Given the description of an element on the screen output the (x, y) to click on. 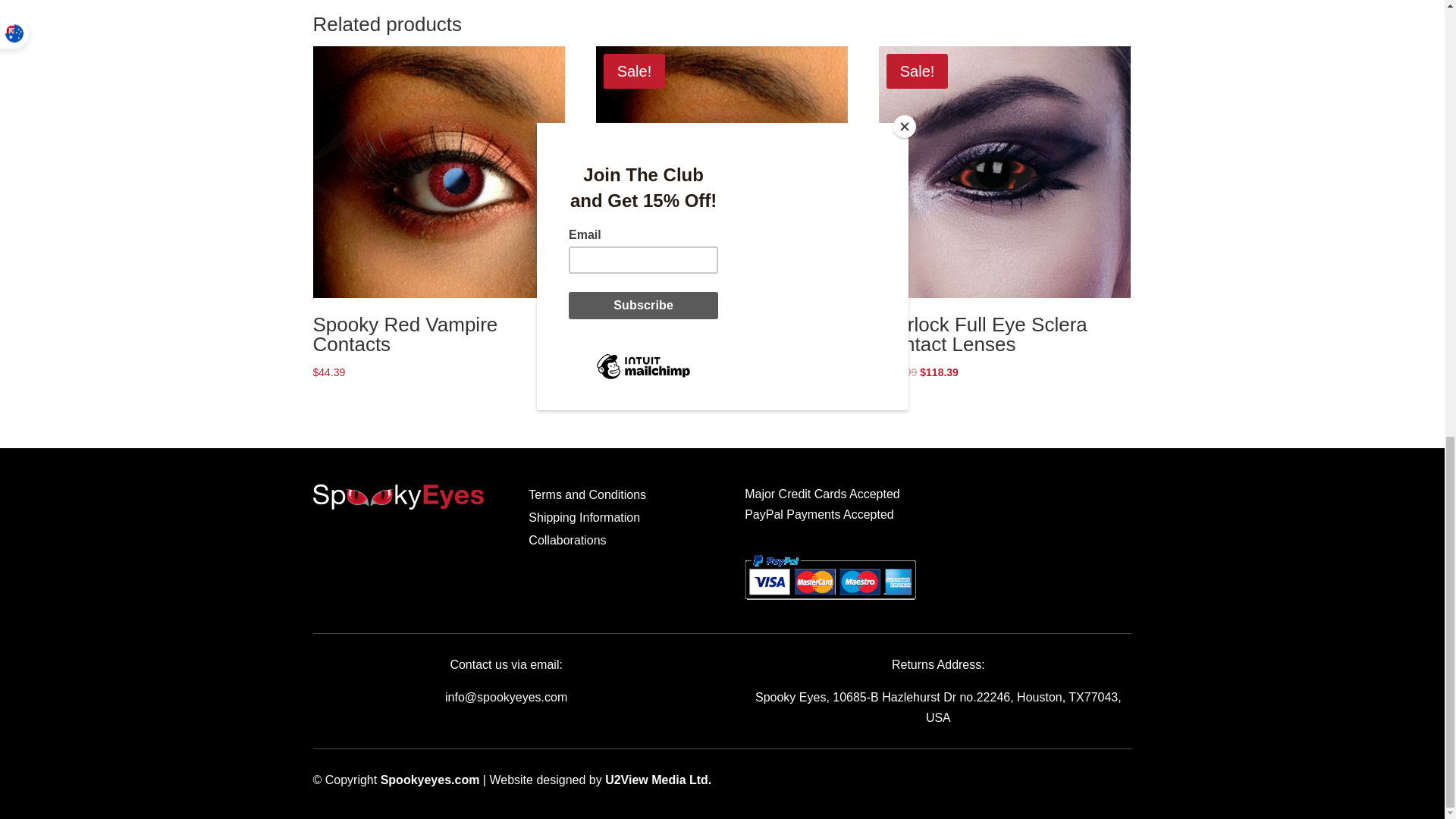
header-logo (398, 497)
How PayPal Works (829, 602)
